Given the description of an element on the screen output the (x, y) to click on. 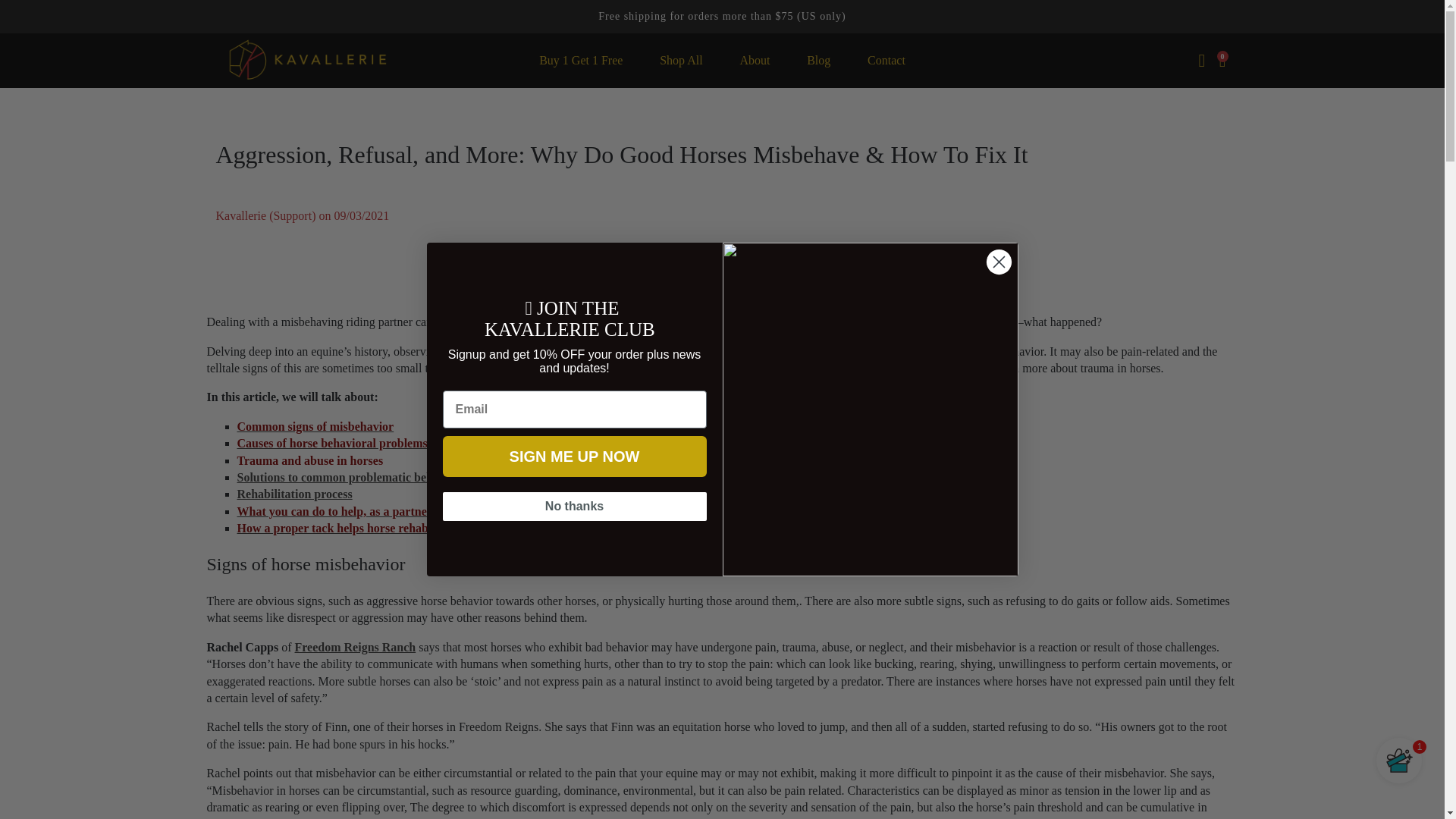
Shop All (681, 60)
Close dialog (998, 261)
Contact (885, 60)
About (753, 60)
Buy 1 Get 1 Free (580, 60)
Blog (818, 60)
